Given the description of an element on the screen output the (x, y) to click on. 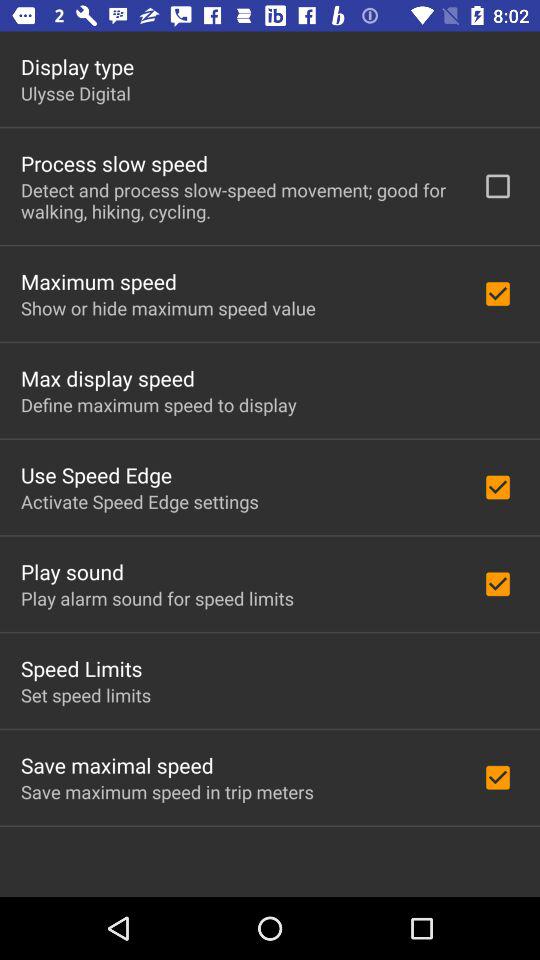
jump until the ulysse digital icon (75, 93)
